Given the description of an element on the screen output the (x, y) to click on. 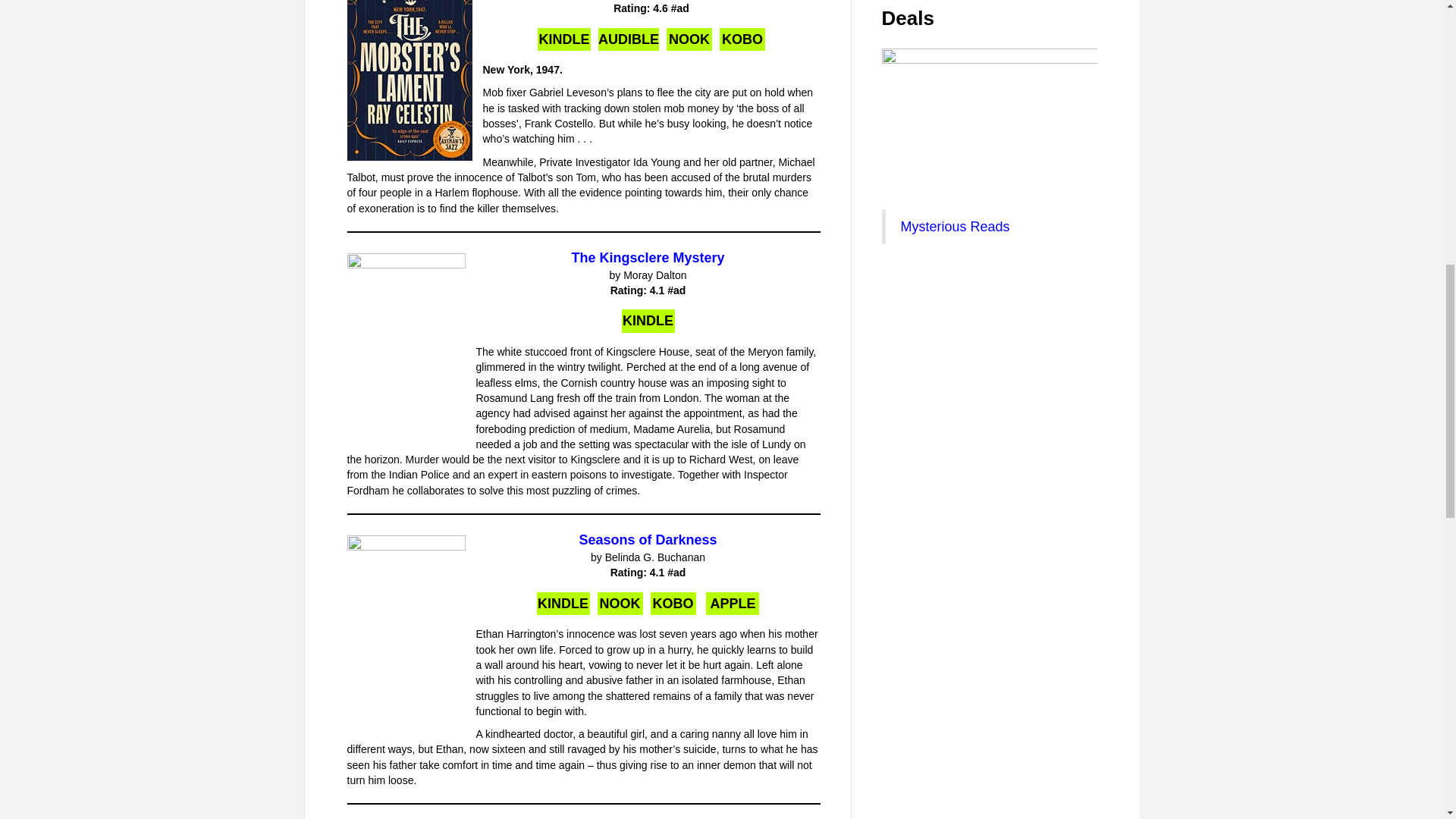
KINDLE (648, 320)
NOOK (619, 603)
NOOK (688, 39)
KOBO (672, 603)
Seasons of Darkness (647, 539)
AUDIBLE (628, 39)
APPLE (732, 603)
KINDLE (564, 39)
KOBO (742, 39)
The Kingsclere Mystery (646, 257)
